Given the description of an element on the screen output the (x, y) to click on. 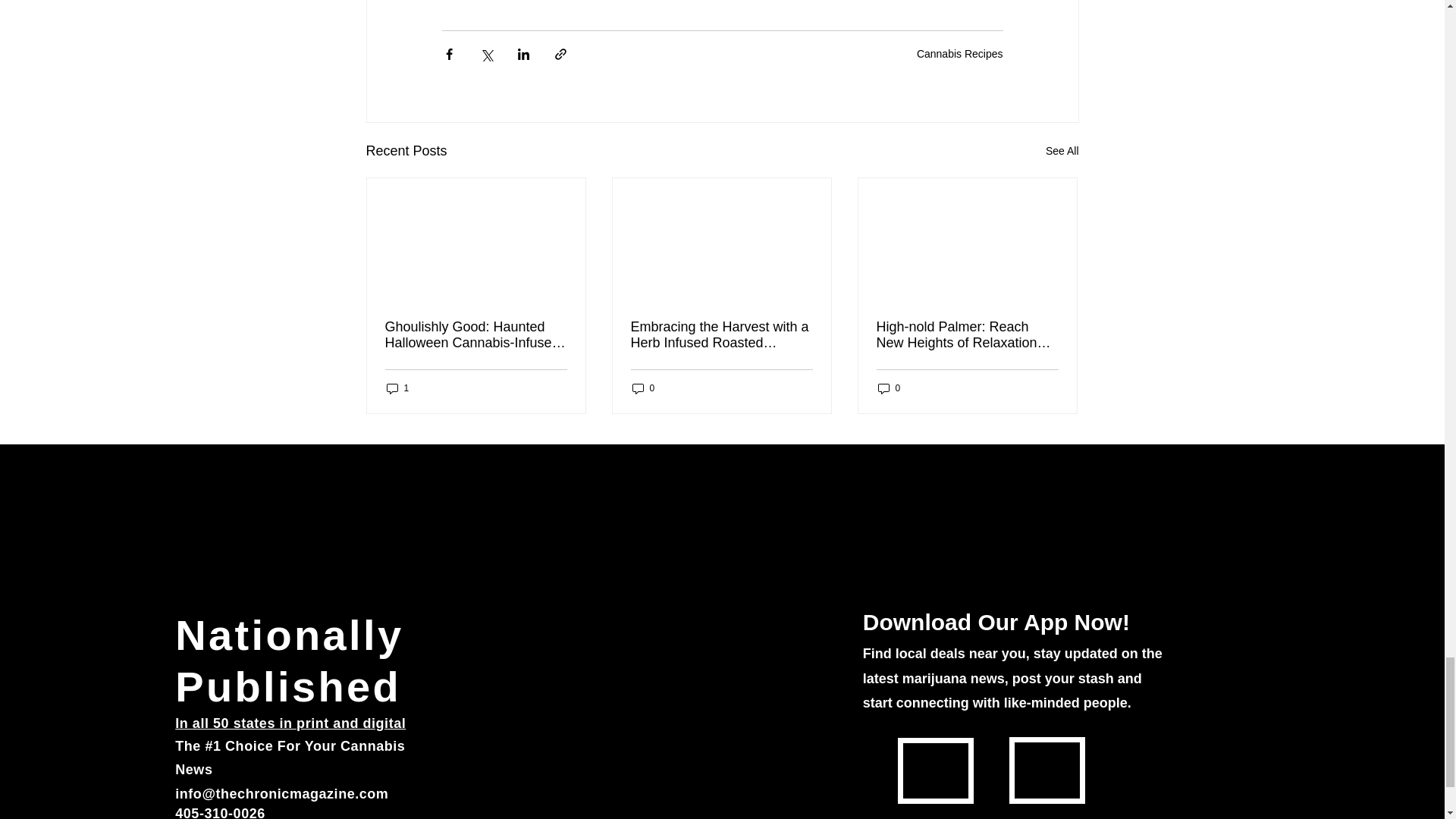
See All (1061, 151)
Cannabis Recipes (960, 53)
0 (889, 388)
0 (643, 388)
1 (397, 388)
